Given the description of an element on the screen output the (x, y) to click on. 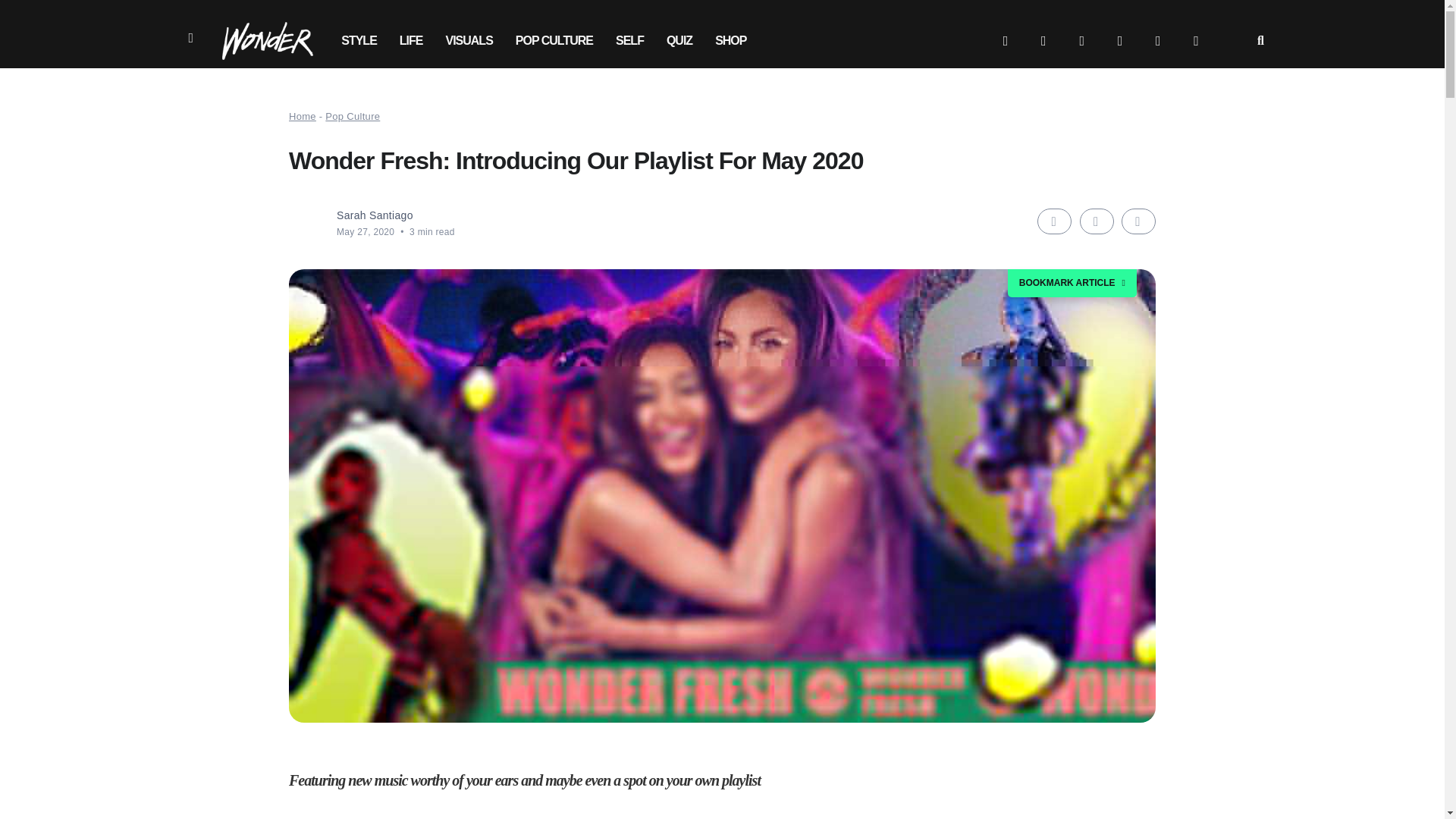
VISUALS (468, 40)
SHOP (730, 40)
POP CULTURE (553, 40)
SELF (629, 40)
QUIZ (679, 40)
STYLE (359, 40)
LIFE (410, 40)
